Given the description of an element on the screen output the (x, y) to click on. 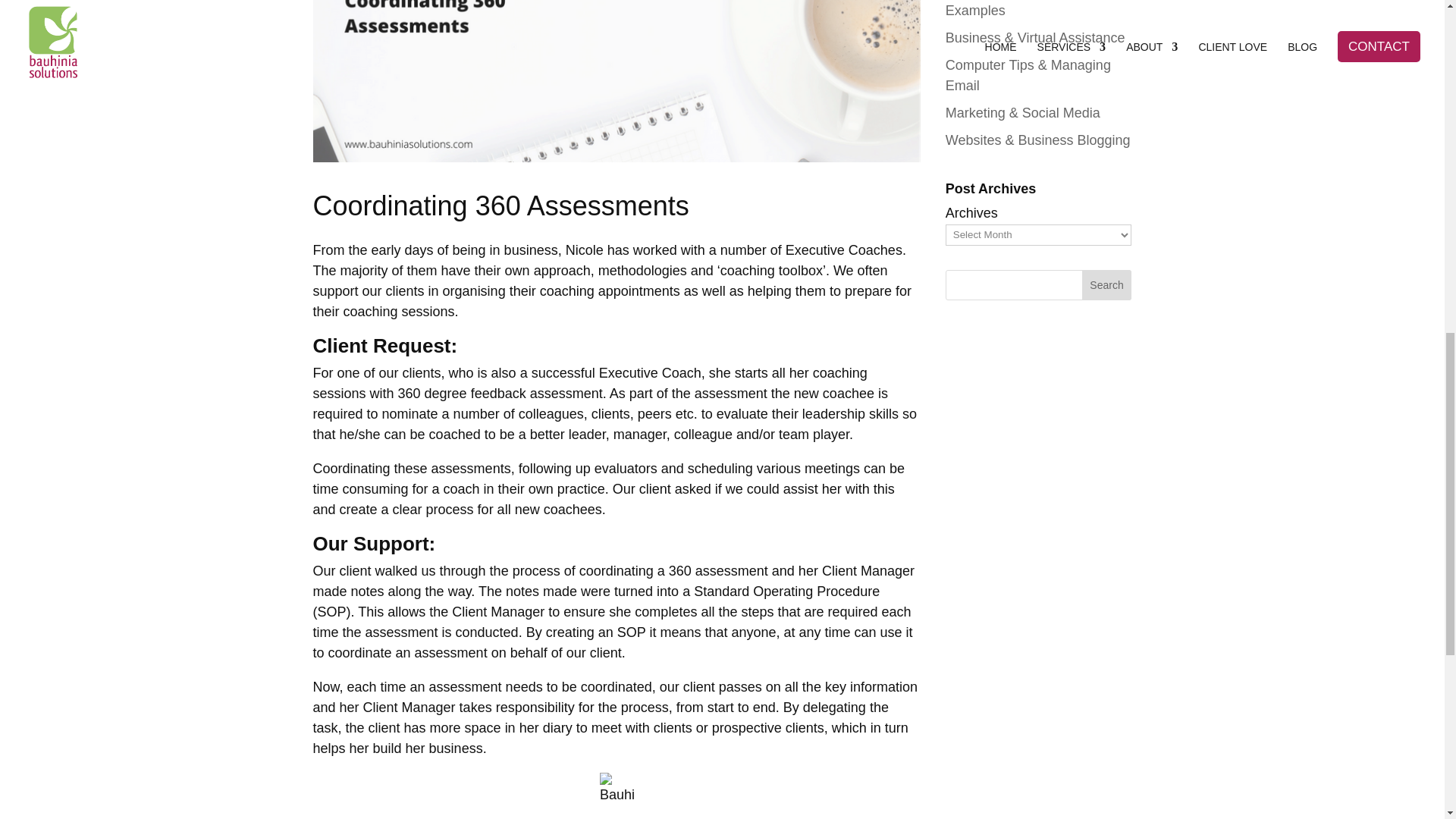
Search (1106, 285)
coordinating 360 assessments (616, 81)
Bauhinia Solutions Flower (616, 789)
Search (1106, 285)
